Given the description of an element on the screen output the (x, y) to click on. 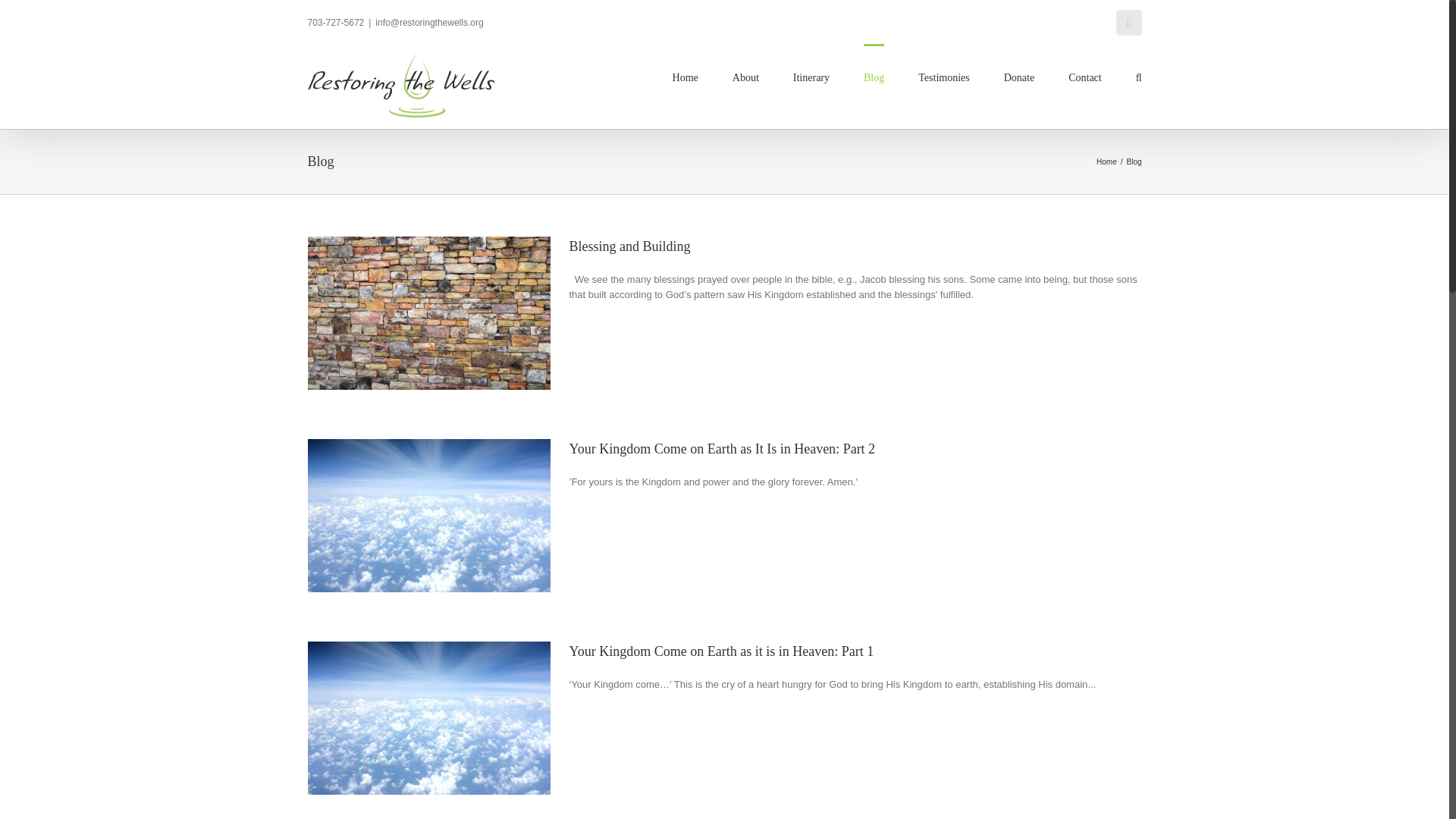
Facebook (1128, 22)
Your Kingdom Come on Earth as It Is in Heaven: Part 2 (722, 448)
Your Kingdom Come on Earth as it is in Heaven: Part 1 (721, 651)
Blessing and Building (629, 246)
Home (1106, 162)
